Given the description of an element on the screen output the (x, y) to click on. 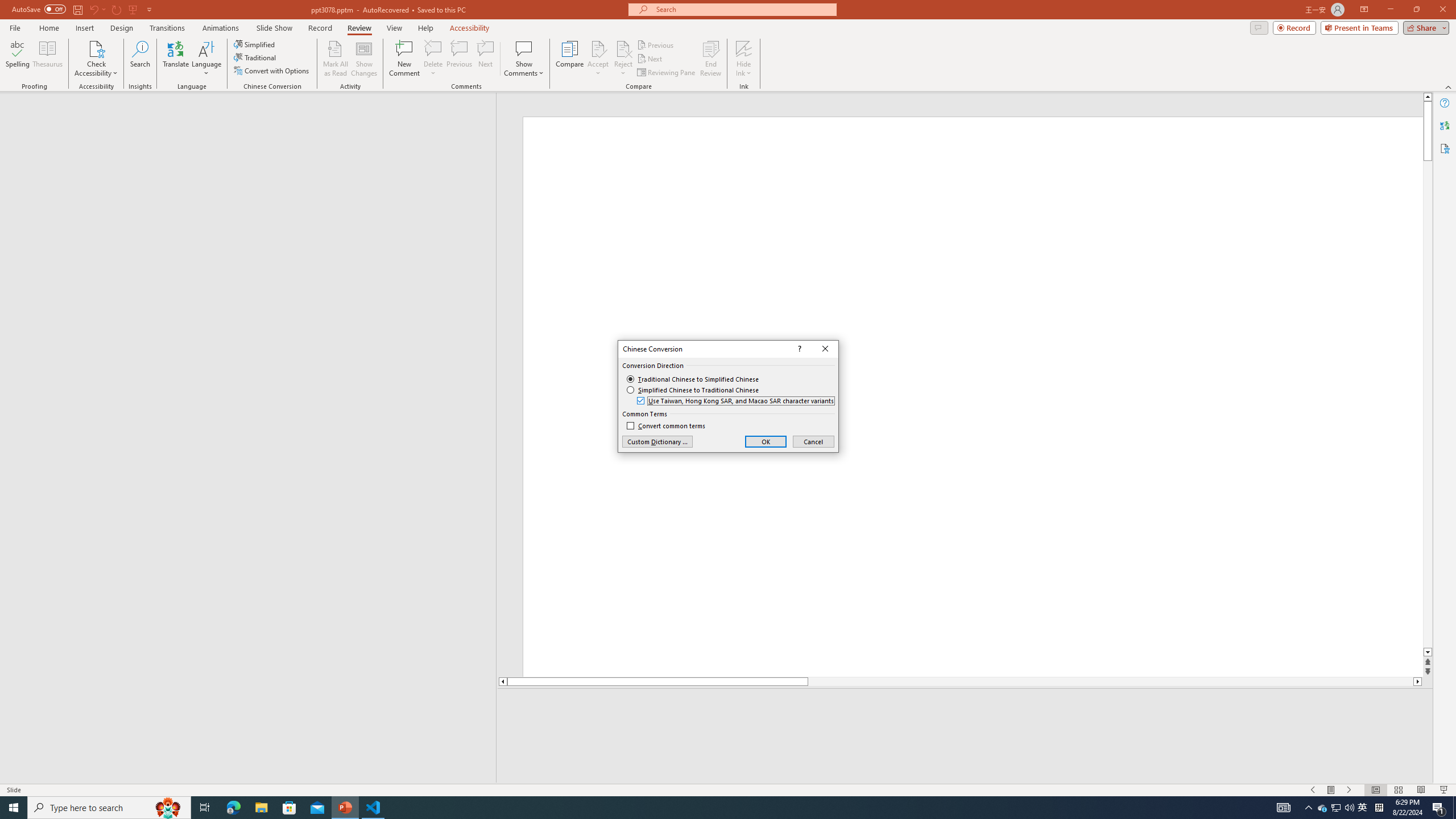
Spelling... (17, 58)
Convert with Options... (272, 69)
Reviewing Pane (666, 72)
Language (206, 58)
